Given the description of an element on the screen output the (x, y) to click on. 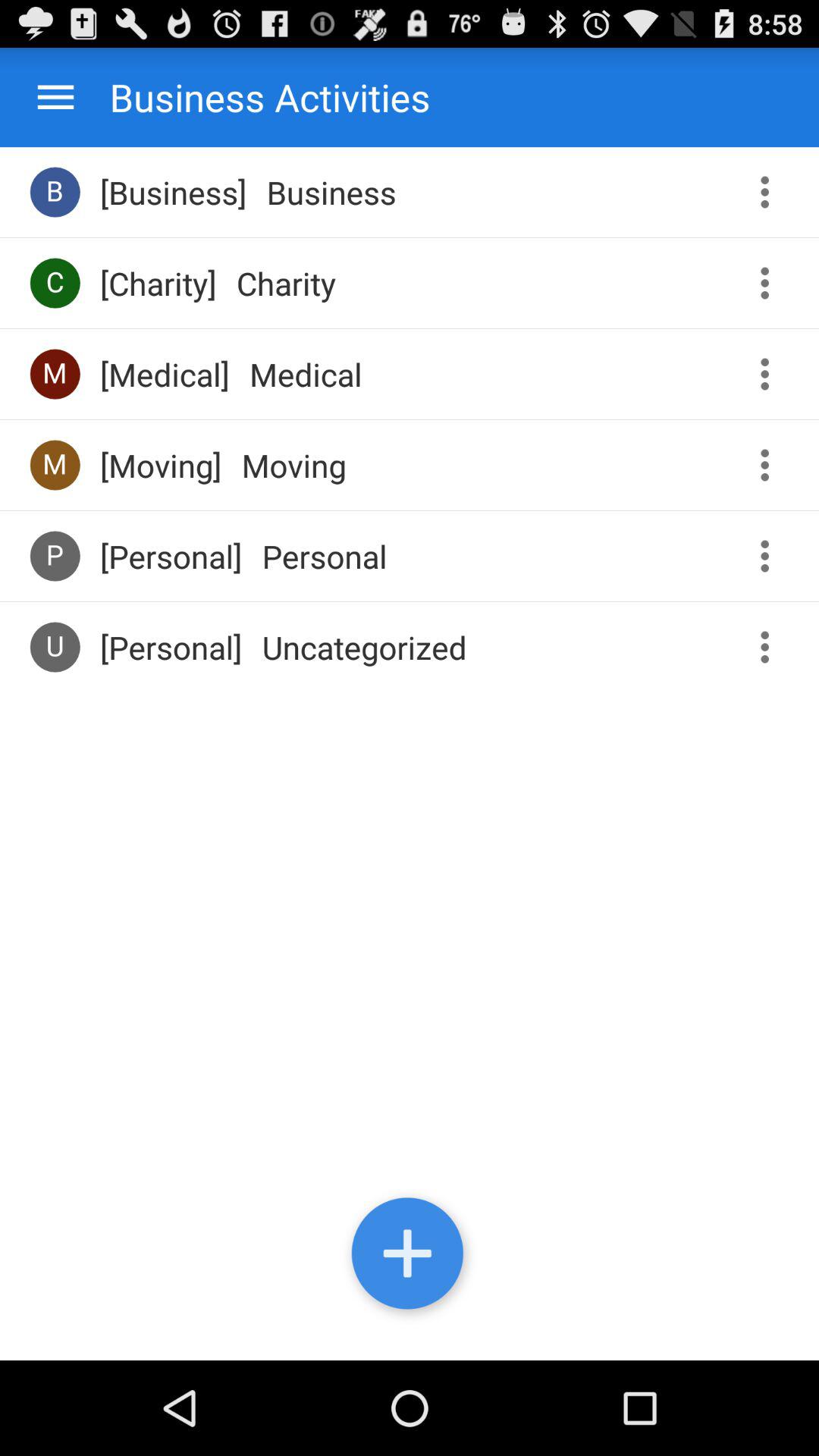
turn off icon to the left of business activities app (55, 97)
